Given the description of an element on the screen output the (x, y) to click on. 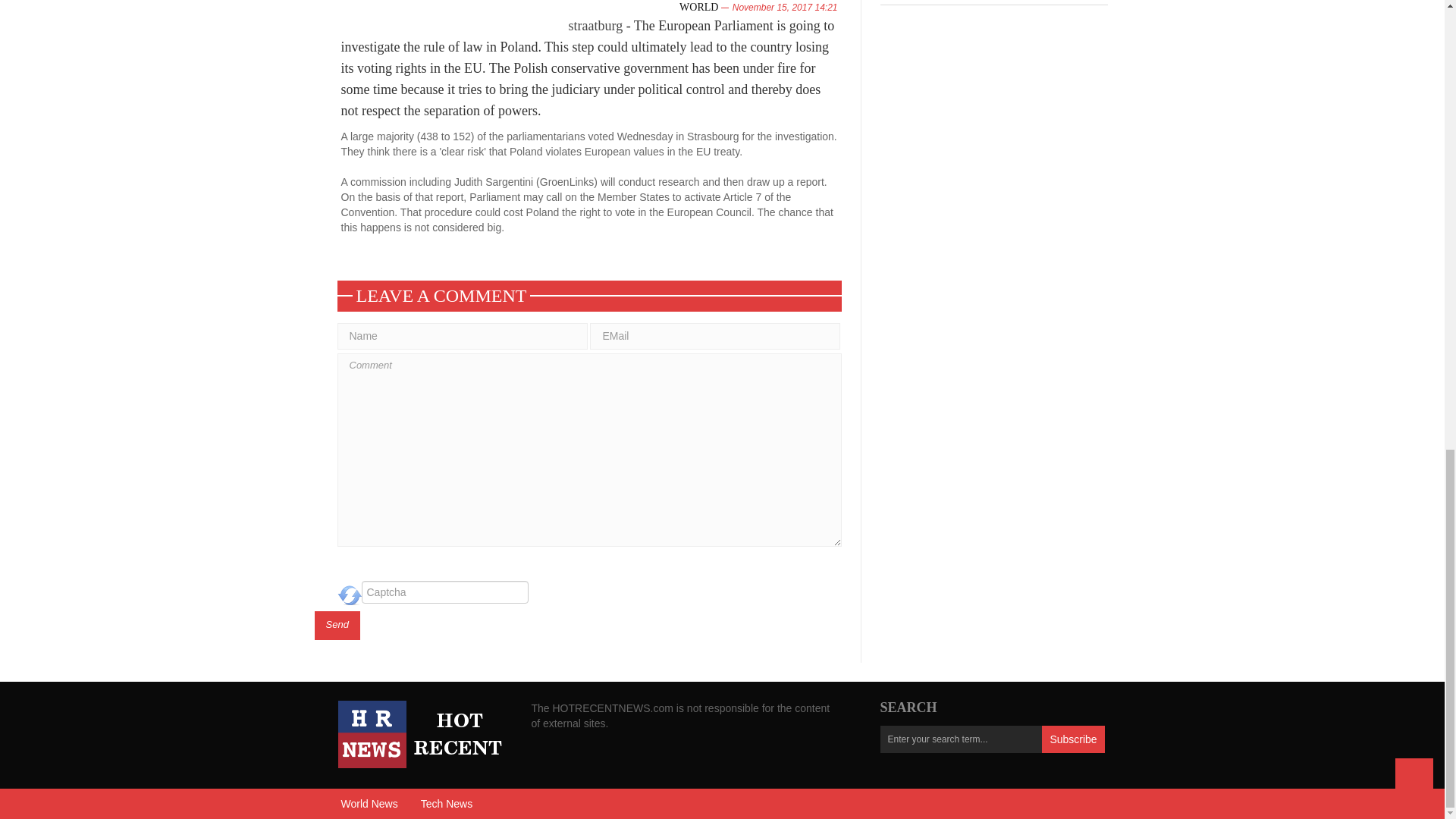
Enter your search term... (960, 738)
WORLD (698, 7)
Subscribe (1072, 738)
Send (336, 624)
Send (336, 624)
straatburg (596, 25)
